Given the description of an element on the screen output the (x, y) to click on. 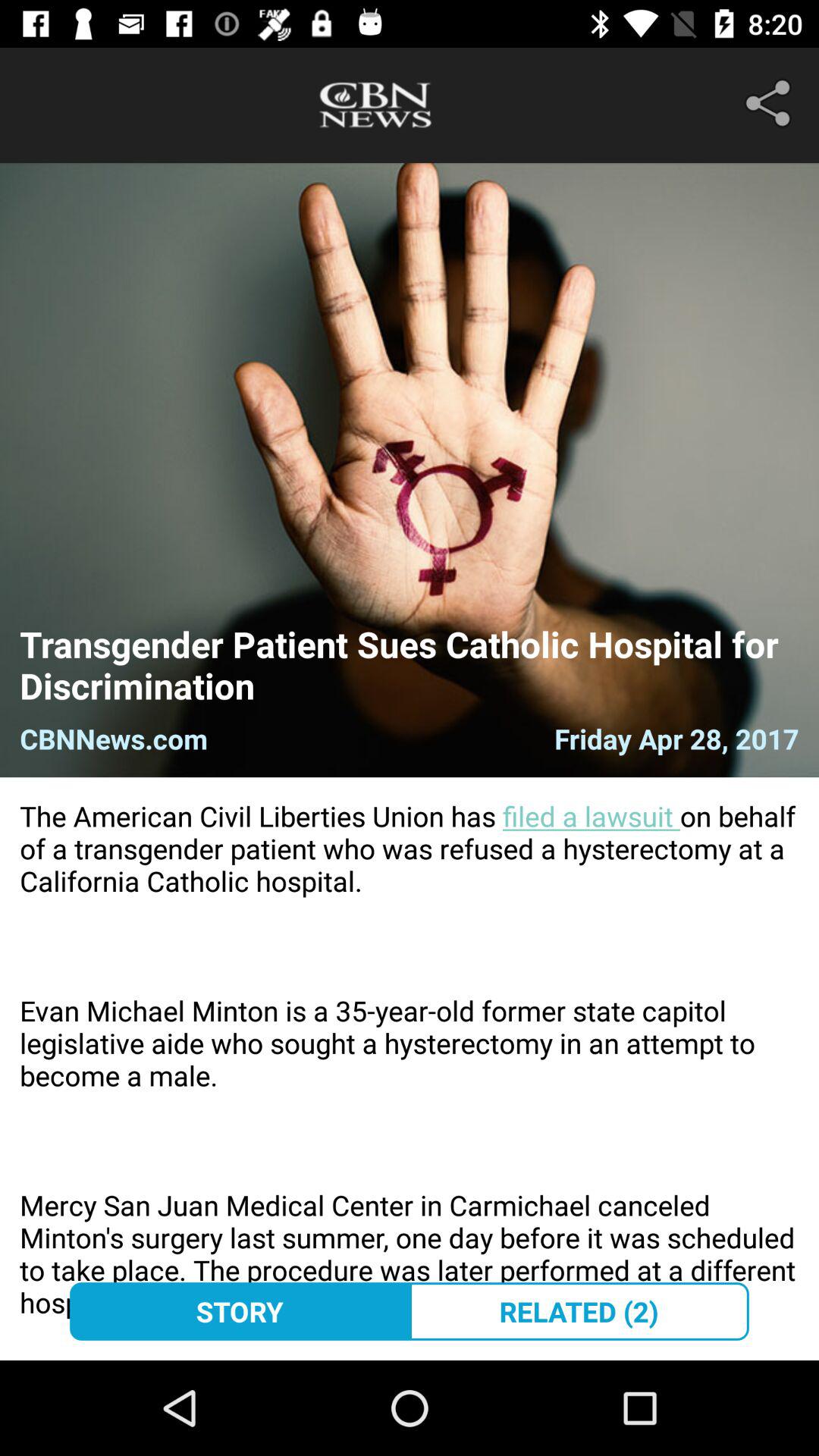
flip until the related (2) (579, 1311)
